Given the description of an element on the screen output the (x, y) to click on. 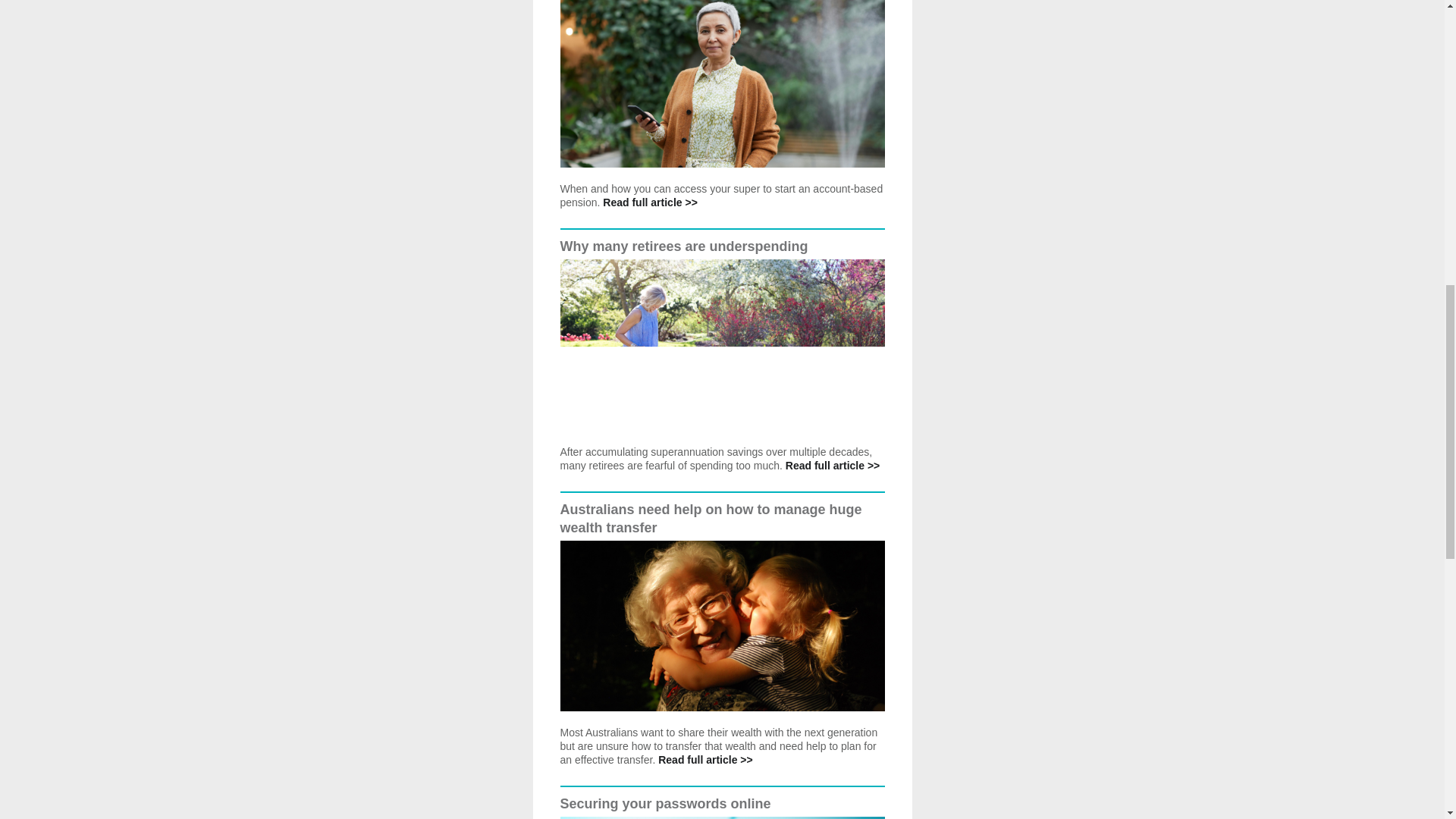
Australians need help on how to manage huge wealth transfer (710, 518)
Securing your passwords online (664, 803)
Why many retirees are underspending (683, 246)
